Given the description of an element on the screen output the (x, y) to click on. 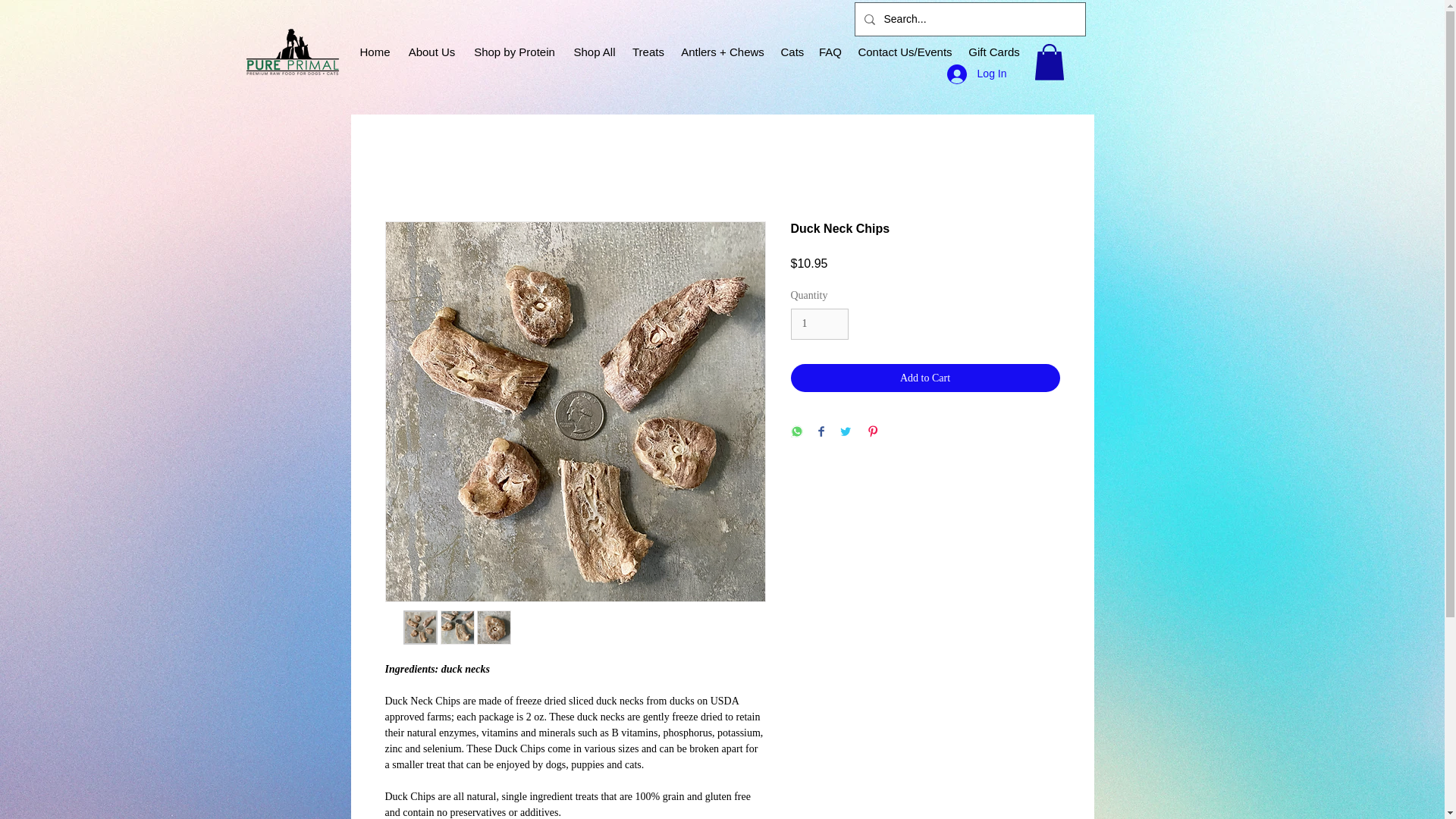
Add to Cart (924, 377)
Cats (791, 51)
1 (818, 323)
FAQ (830, 51)
About Us (431, 51)
Treats (648, 51)
Home (374, 51)
Log In (976, 72)
Shop by Protein (514, 51)
Shop All (594, 51)
Gift Cards (993, 51)
